Given the description of an element on the screen output the (x, y) to click on. 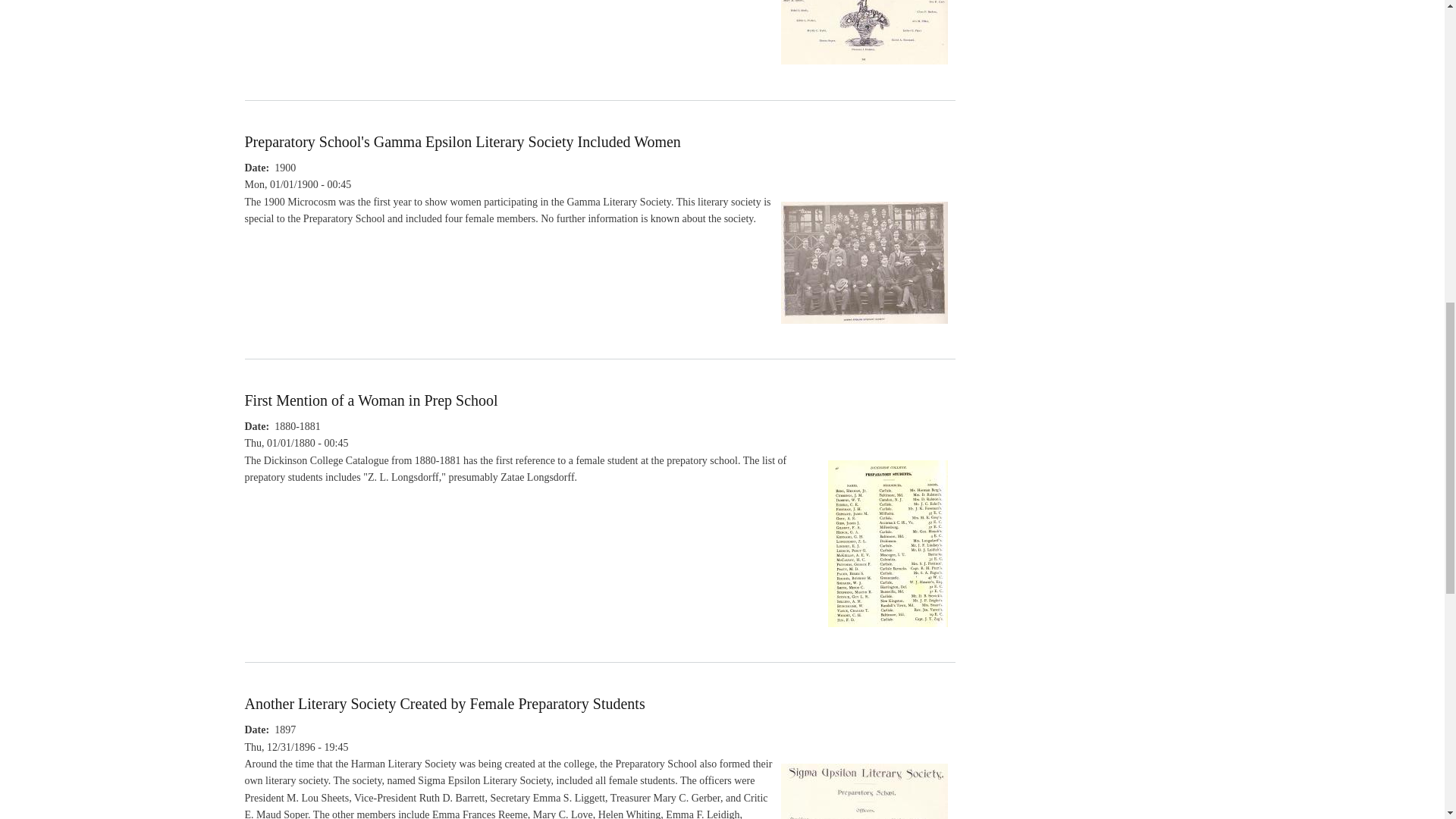
"A Basket of Peaches" at the Prep School (863, 71)
First Mention of a Woman in Prep School (370, 400)
First Mention of a Woman in Prep School (887, 633)
